Given the description of an element on the screen output the (x, y) to click on. 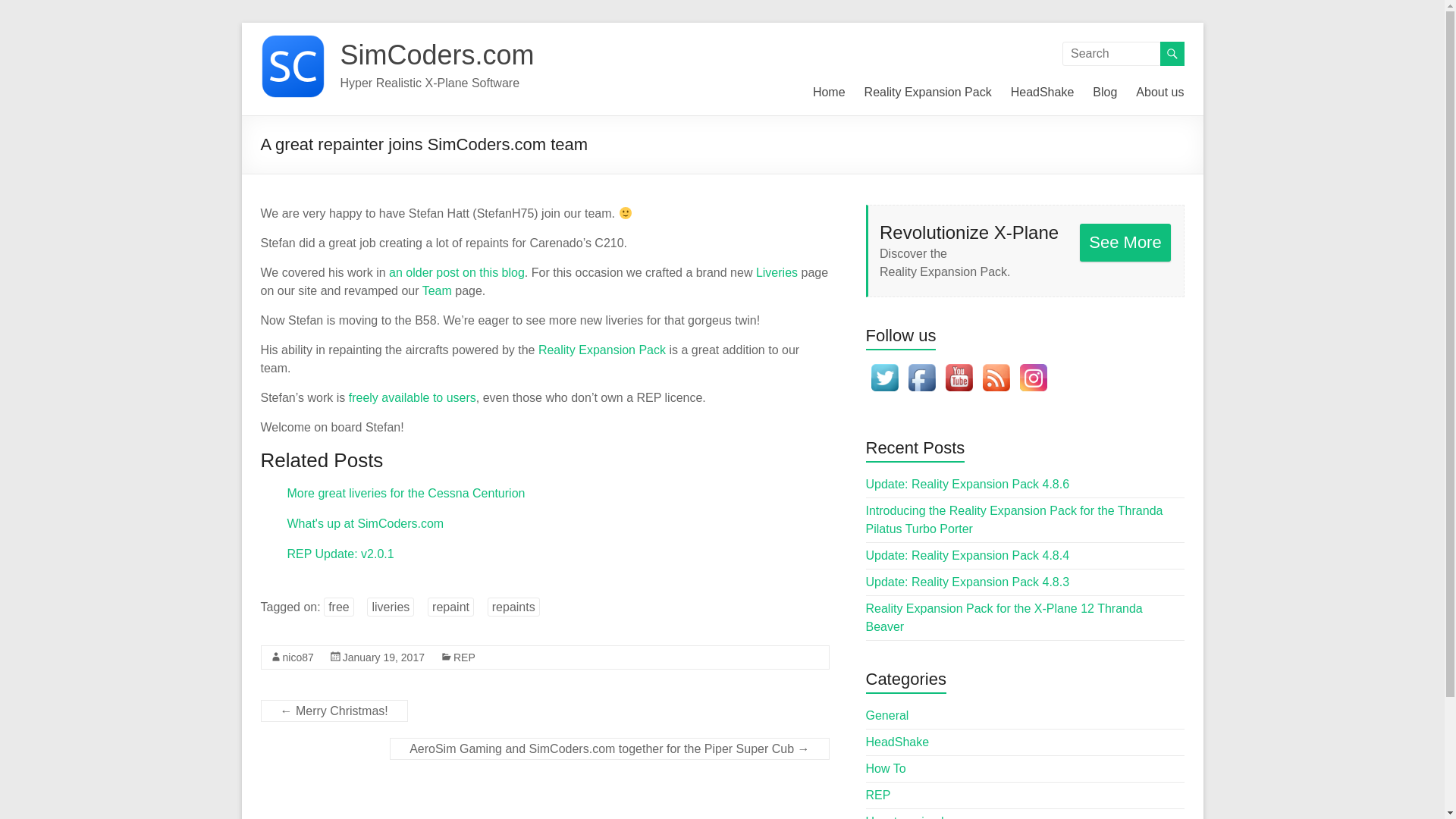
Visit Us On Instagram (1032, 366)
Check Our Feed (994, 366)
19:00 (383, 657)
Visit Us On Twitter (884, 366)
Visit Us On Youtube (958, 366)
SimCoders.com (436, 54)
Visit Us On Facebook (920, 366)
Reality Expansion Pack (927, 92)
See More (1126, 242)
HeadShake (1042, 92)
Home (828, 92)
SimCoders.com (436, 54)
